Given the description of an element on the screen output the (x, y) to click on. 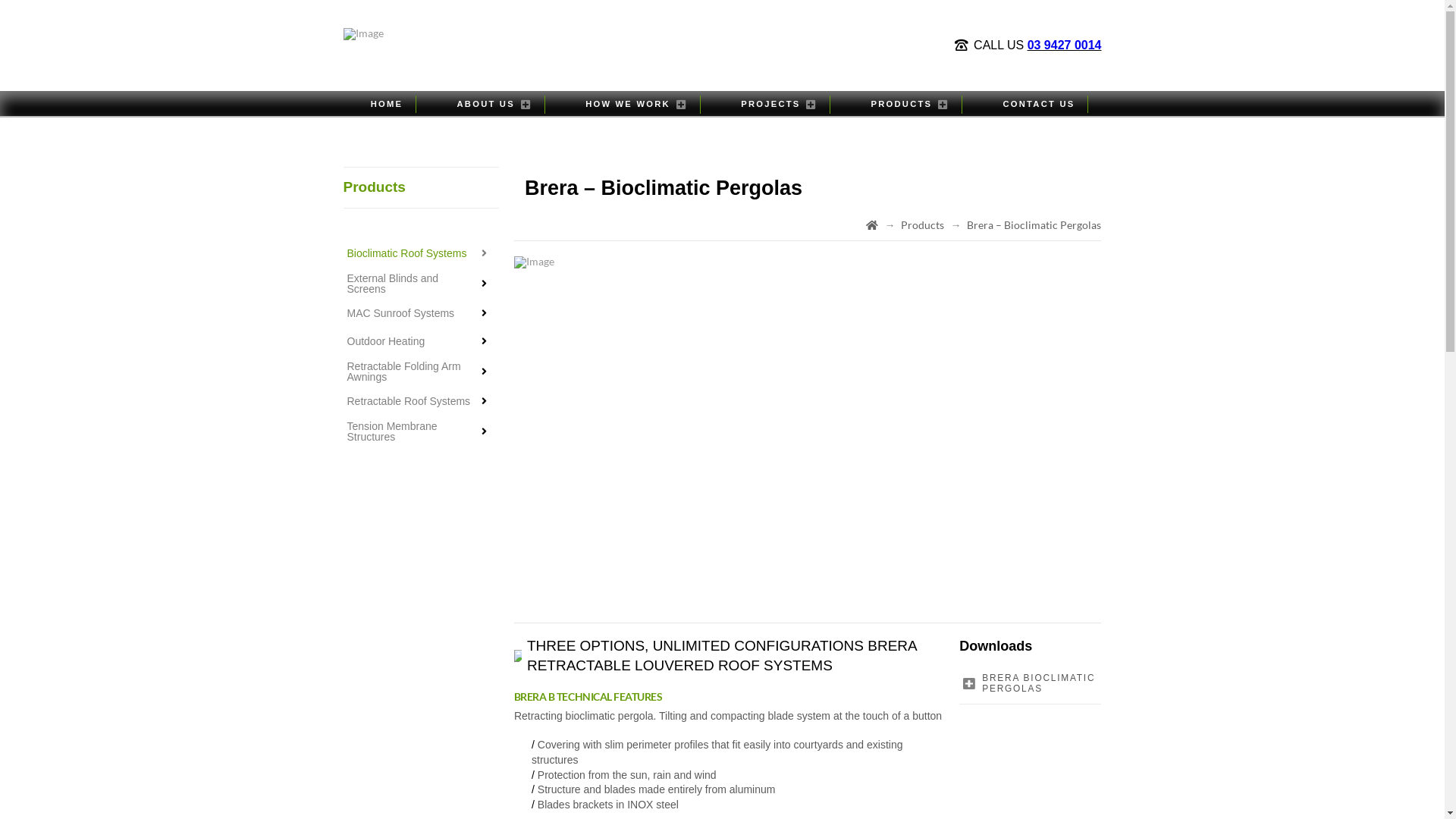
03 9427 0014 Element type: text (1064, 44)
ABOUT US Element type: text (493, 104)
MAC Sunroof Systems Element type: text (420, 312)
Home Element type: text (872, 225)
Outdoor Heating Element type: text (420, 340)
Tension Membrane Structures Element type: text (420, 430)
CONTACT US Element type: text (1038, 103)
PROJECTS Element type: text (778, 104)
Retractable Folding Arm Awnings Element type: text (420, 370)
BRERA BIOCLIMATIC PERGOLAS Element type: text (1030, 683)
Bioclimatic Roof Systems Element type: text (420, 252)
Retractable Roof Systems Element type: text (420, 400)
HOME Element type: text (386, 103)
HOW WE WORK Element type: text (635, 104)
External Blinds and Screens Element type: text (420, 282)
Products Element type: text (922, 225)
PRODUCTS Element type: text (909, 104)
